Given the description of an element on the screen output the (x, y) to click on. 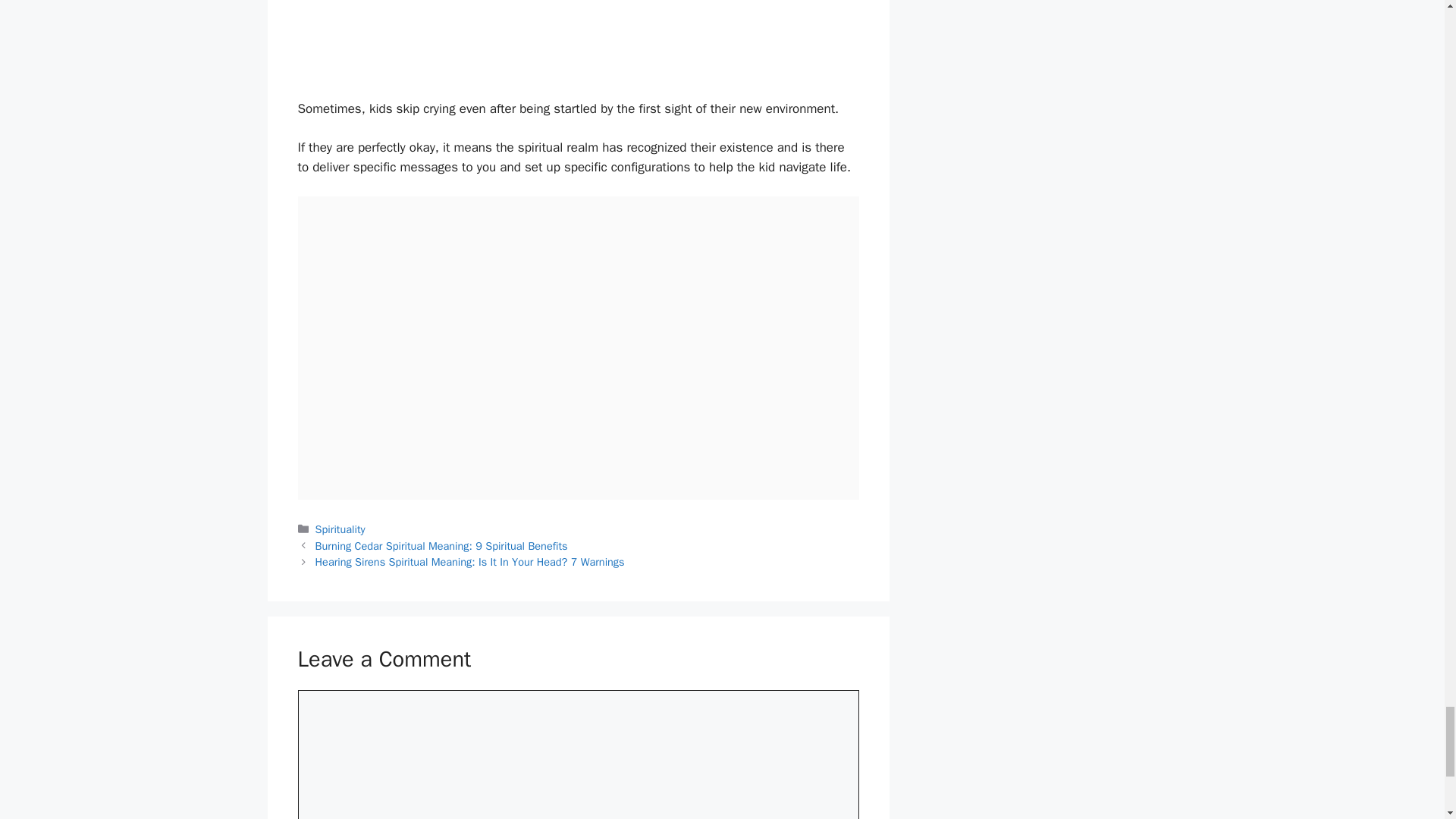
Spirituality (340, 529)
Burning Cedar Spiritual Meaning: 9 Spiritual Benefits (441, 545)
Next (469, 561)
What is the Spirit Baby Realm ? (578, 49)
Previous (441, 545)
